Given the description of an element on the screen output the (x, y) to click on. 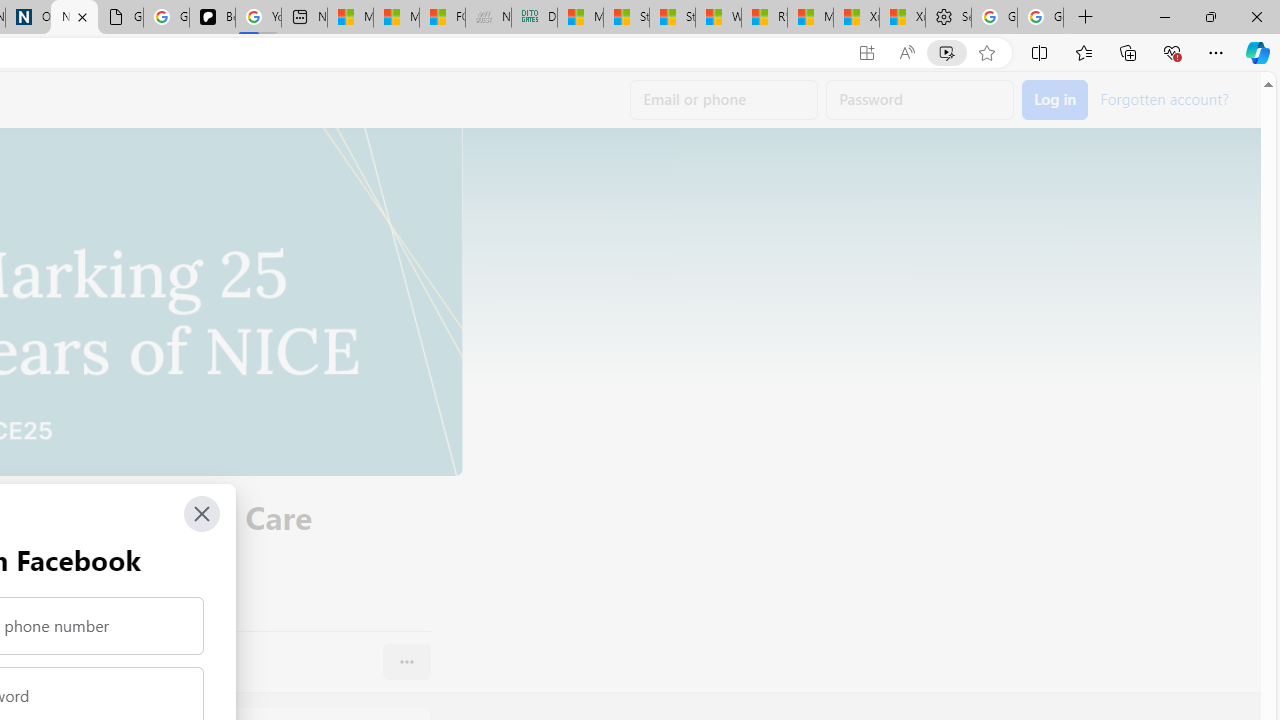
Password (920, 99)
Forgotten account? (1163, 97)
FOX News - MSN (441, 17)
